Given the description of an element on the screen output the (x, y) to click on. 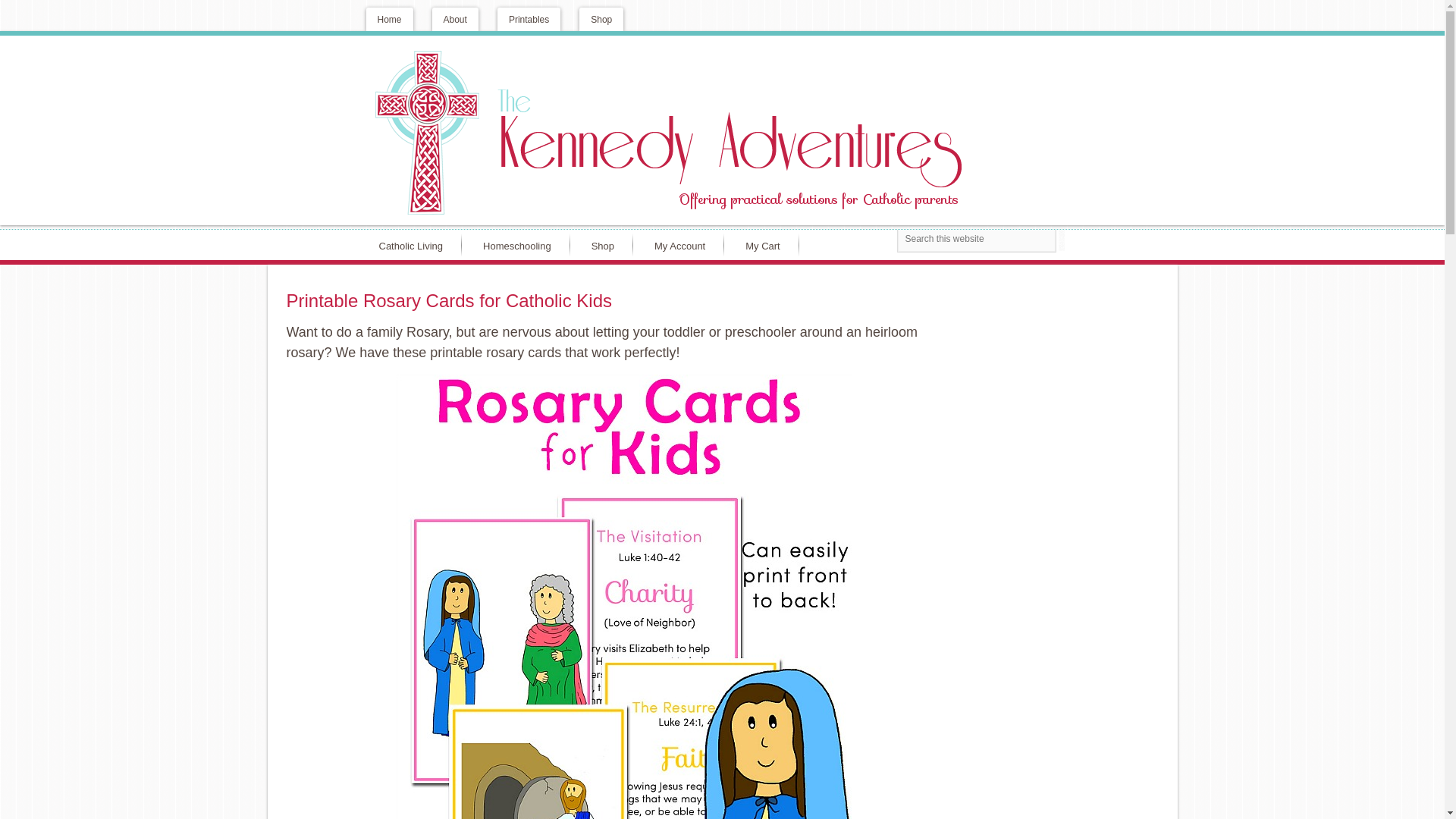
Homeschooling (520, 245)
Shop (605, 245)
Shop (601, 19)
My Cart (765, 245)
Home (388, 19)
Printables (528, 19)
Catholic Living (414, 245)
My Account (683, 245)
About (455, 19)
